Given the description of an element on the screen output the (x, y) to click on. 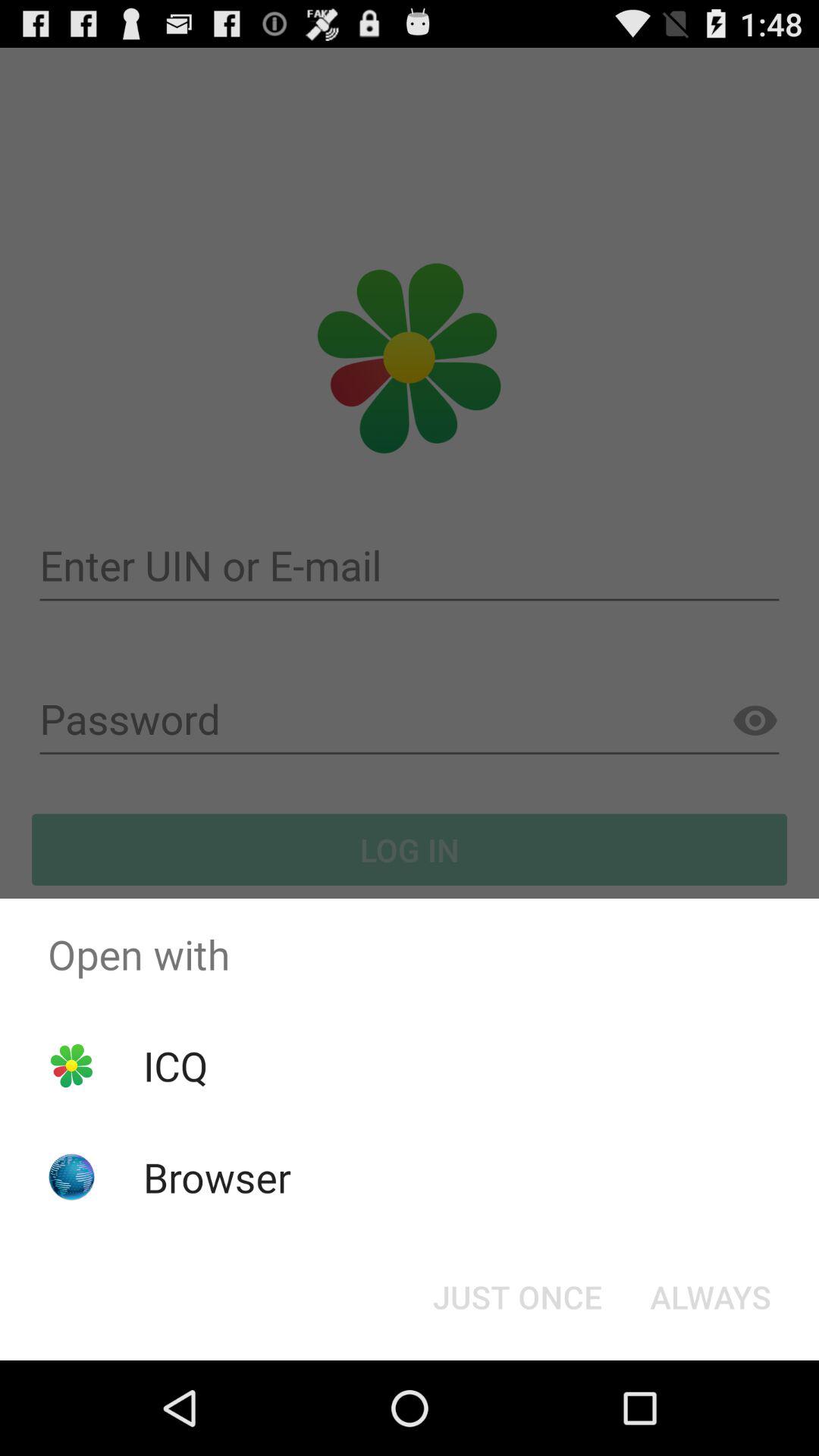
flip to icq (175, 1065)
